Given the description of an element on the screen output the (x, y) to click on. 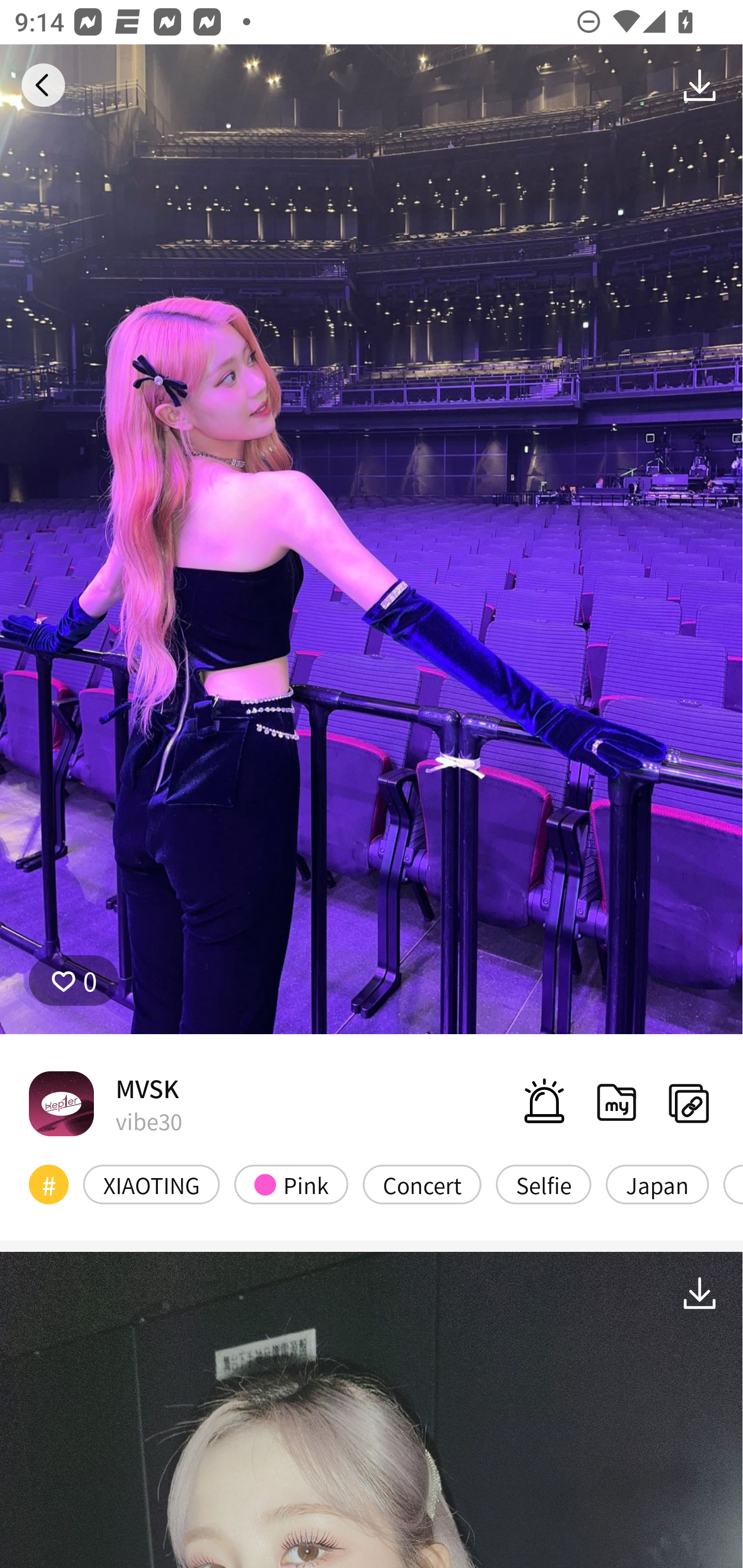
0 (73, 980)
MVSK vibe30 (105, 1102)
XIAOTING (151, 1184)
Pink (291, 1184)
Concert (421, 1184)
Selfie (543, 1184)
Japan (656, 1184)
